Given the description of an element on the screen output the (x, y) to click on. 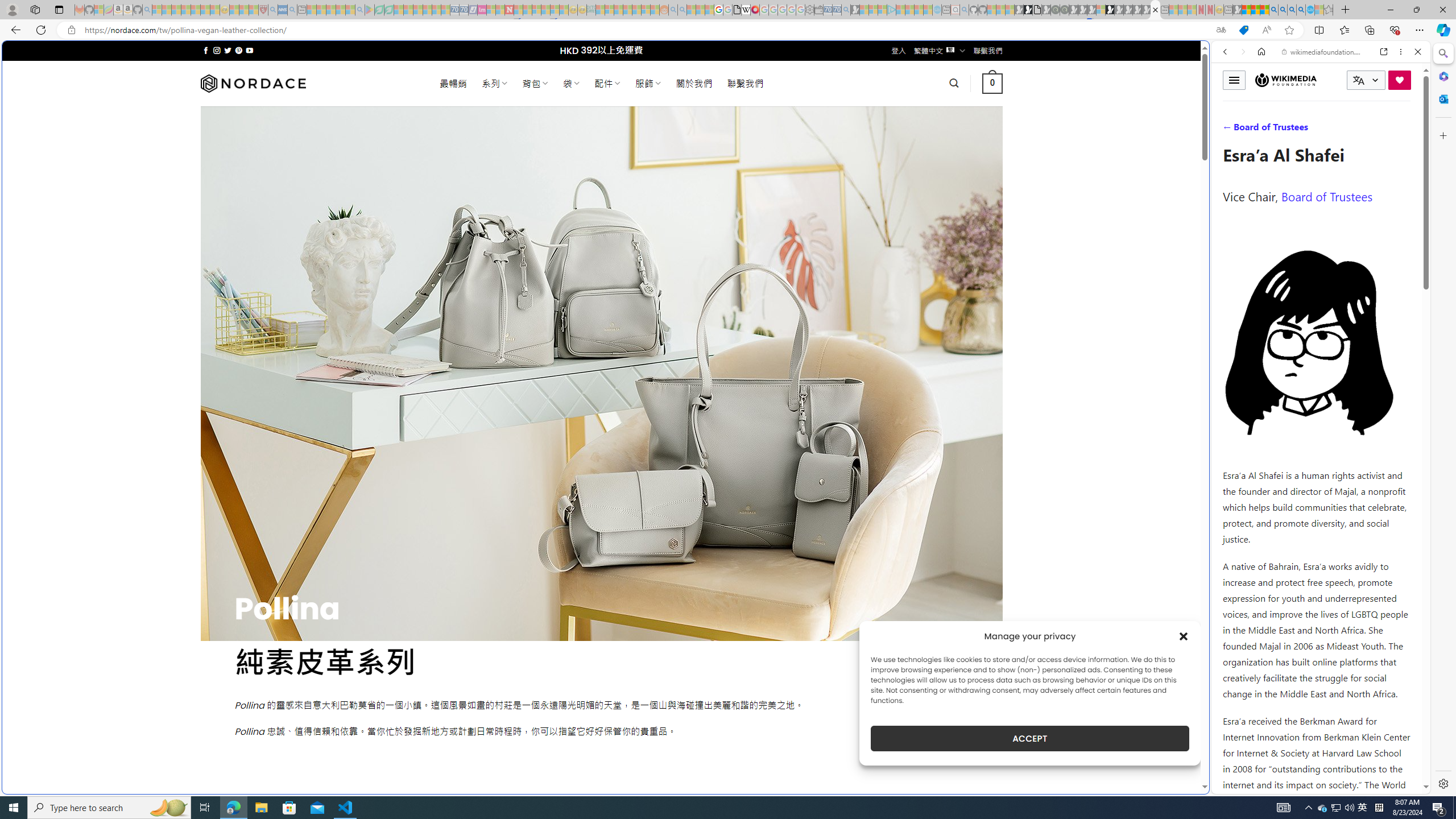
Search or enter web address (922, 108)
utah sues federal government - Search - Sleeping (291, 9)
Bluey: Let's Play! - Apps on Google Play - Sleeping (369, 9)
MSN (1118, 536)
This site has coupons! Shopping in Microsoft Edge, 4 (1243, 29)
Nordace (252, 83)
Class: i icon icon-translate language-switcher__icon (1358, 80)
Home (1261, 51)
